Given the description of an element on the screen output the (x, y) to click on. 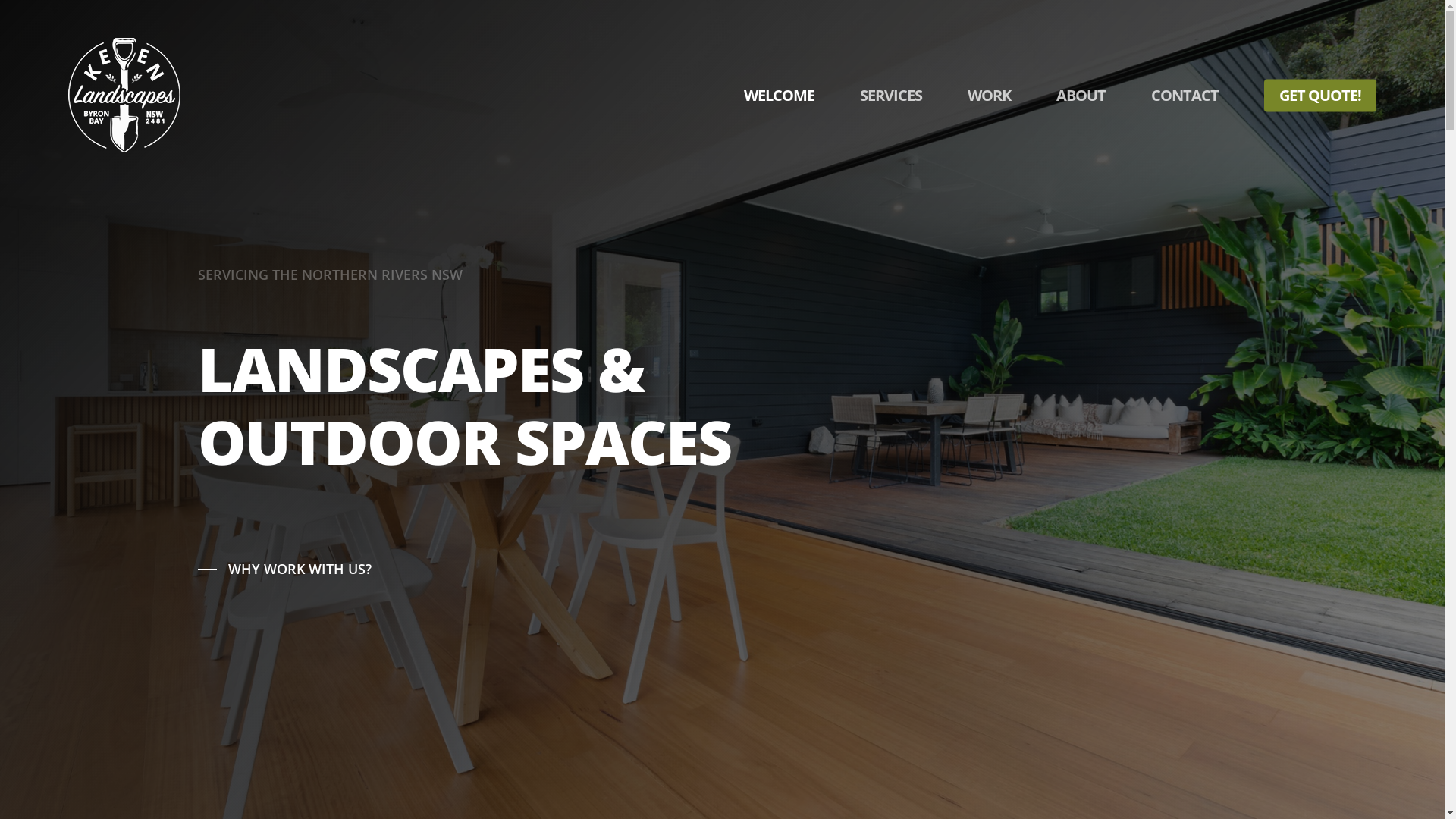
ABOUT Element type: text (1080, 95)
WELCOME Element type: text (779, 95)
CONTACT Element type: text (1184, 95)
GET QUOTE! Element type: text (1320, 95)
SERVICES Element type: text (890, 95)
WHY WORK WITH US? Element type: text (284, 568)
WORK Element type: text (988, 95)
